Given the description of an element on the screen output the (x, y) to click on. 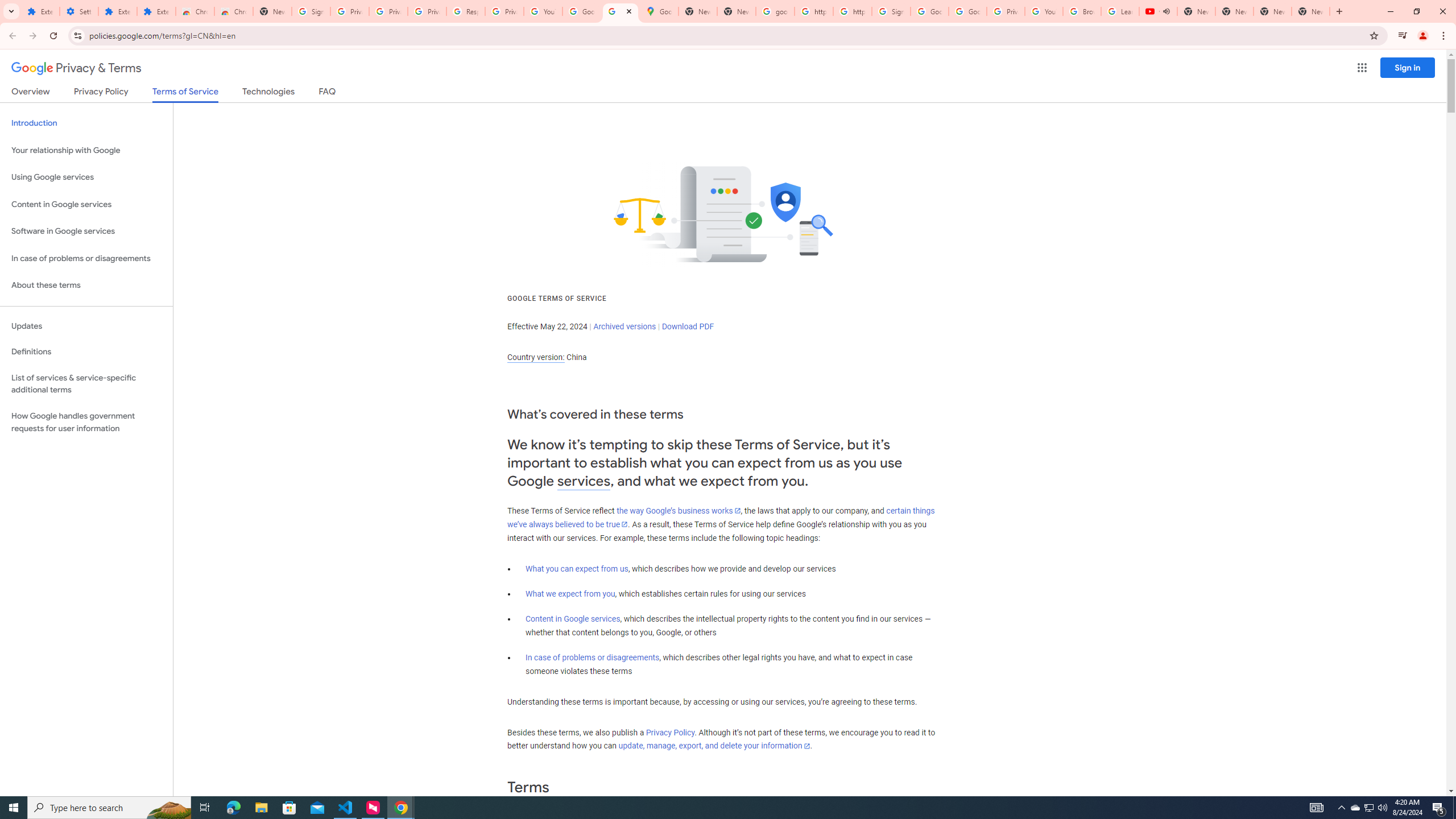
Settings (79, 11)
https://scholar.google.com/ (852, 11)
Your relationship with Google (86, 150)
Google Maps (659, 11)
Chrome Web Store (194, 11)
Sign in - Google Accounts (890, 11)
